Given the description of an element on the screen output the (x, y) to click on. 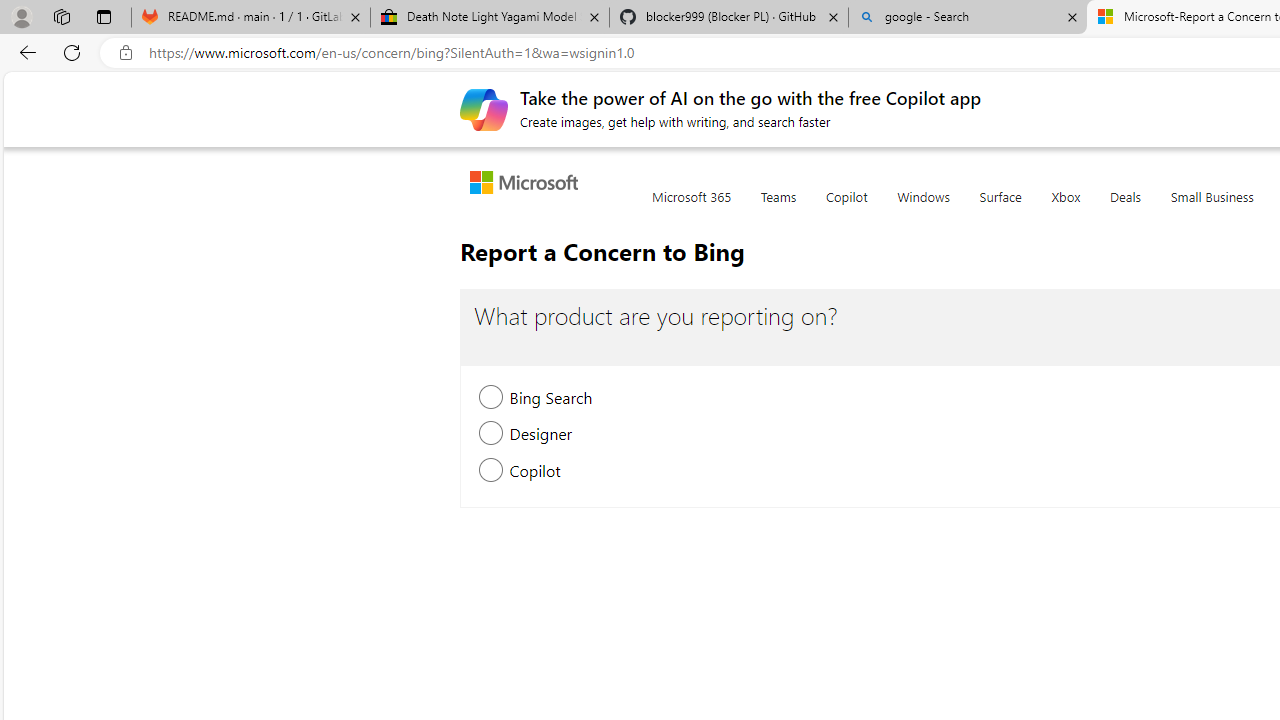
Personal Profile (21, 16)
Teams (778, 207)
Surface (1000, 208)
Surface (1000, 207)
Xbox (1066, 207)
Deals (1124, 207)
Small Business (1212, 207)
Copilot, new section will be expanded (491, 471)
Microsoft (527, 184)
Copilot (846, 208)
google - Search (967, 17)
Microsoft 365 (691, 207)
